Given the description of an element on the screen output the (x, y) to click on. 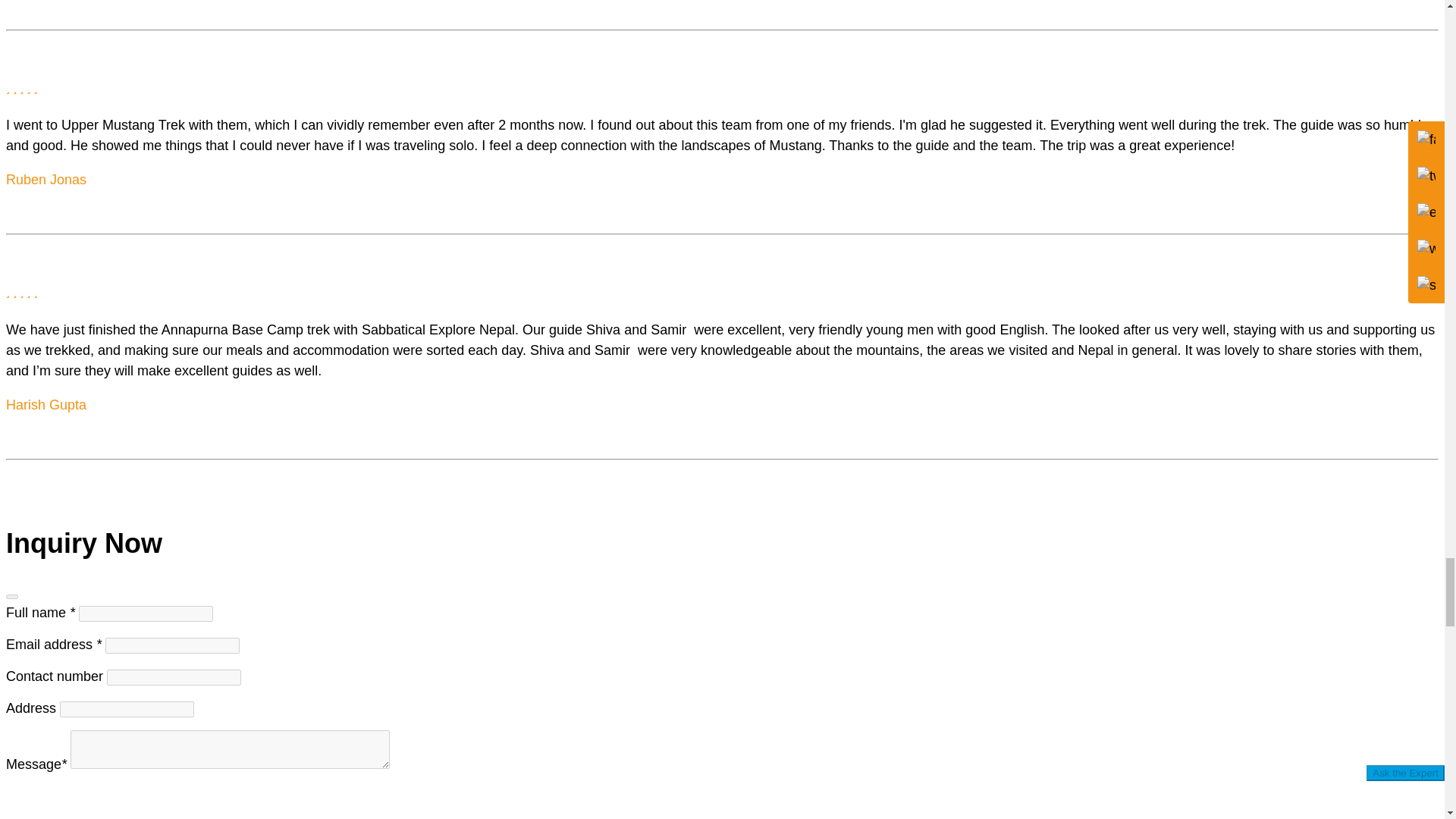
reCAPTCHA (120, 802)
